Given the description of an element on the screen output the (x, y) to click on. 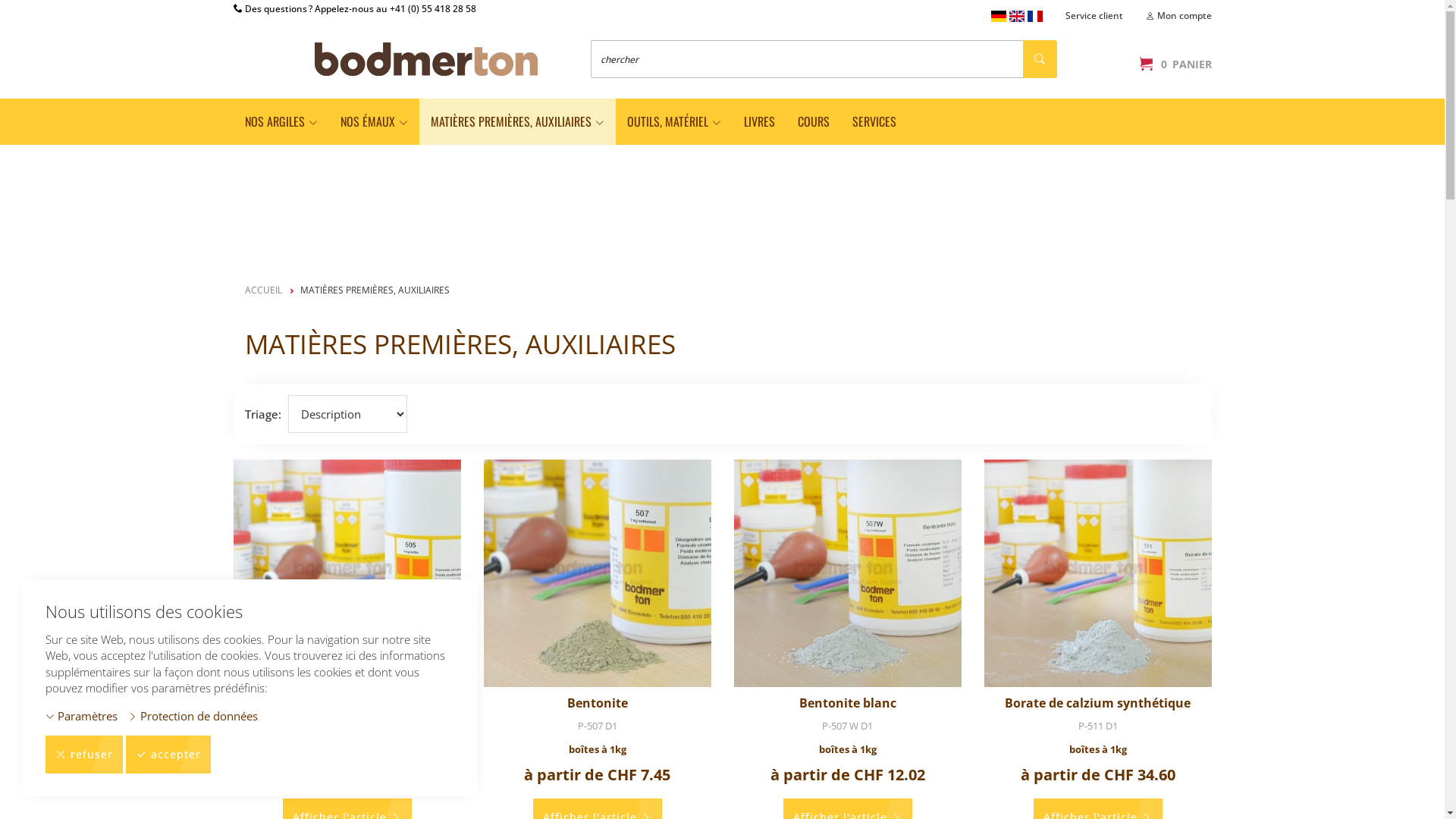
Ball-Clay Element type: text (346, 702)
Bentonite Element type: text (597, 702)
Bentonite blanc Element type: text (847, 702)
P-505 D1 Element type: text (347, 725)
COURS Element type: text (812, 121)
P-511 D1 Element type: text (1097, 725)
Service client Element type: text (1093, 15)
NOS ARGILES Element type: text (281, 121)
Mon compte Element type: text (1178, 15)
0 Element type: text (1145, 64)
accepter Element type: text (167, 754)
P-507 W D1 Element type: text (847, 725)
LIVRES Element type: text (759, 121)
refuser Element type: text (83, 754)
English Element type: hover (1015, 15)
PANIER Element type: text (1191, 64)
ACCUEIL Element type: text (262, 289)
P-507 D1 Element type: text (597, 725)
SERVICES Element type: text (873, 121)
Deutsch Element type: hover (997, 15)
